Given the description of an element on the screen output the (x, y) to click on. 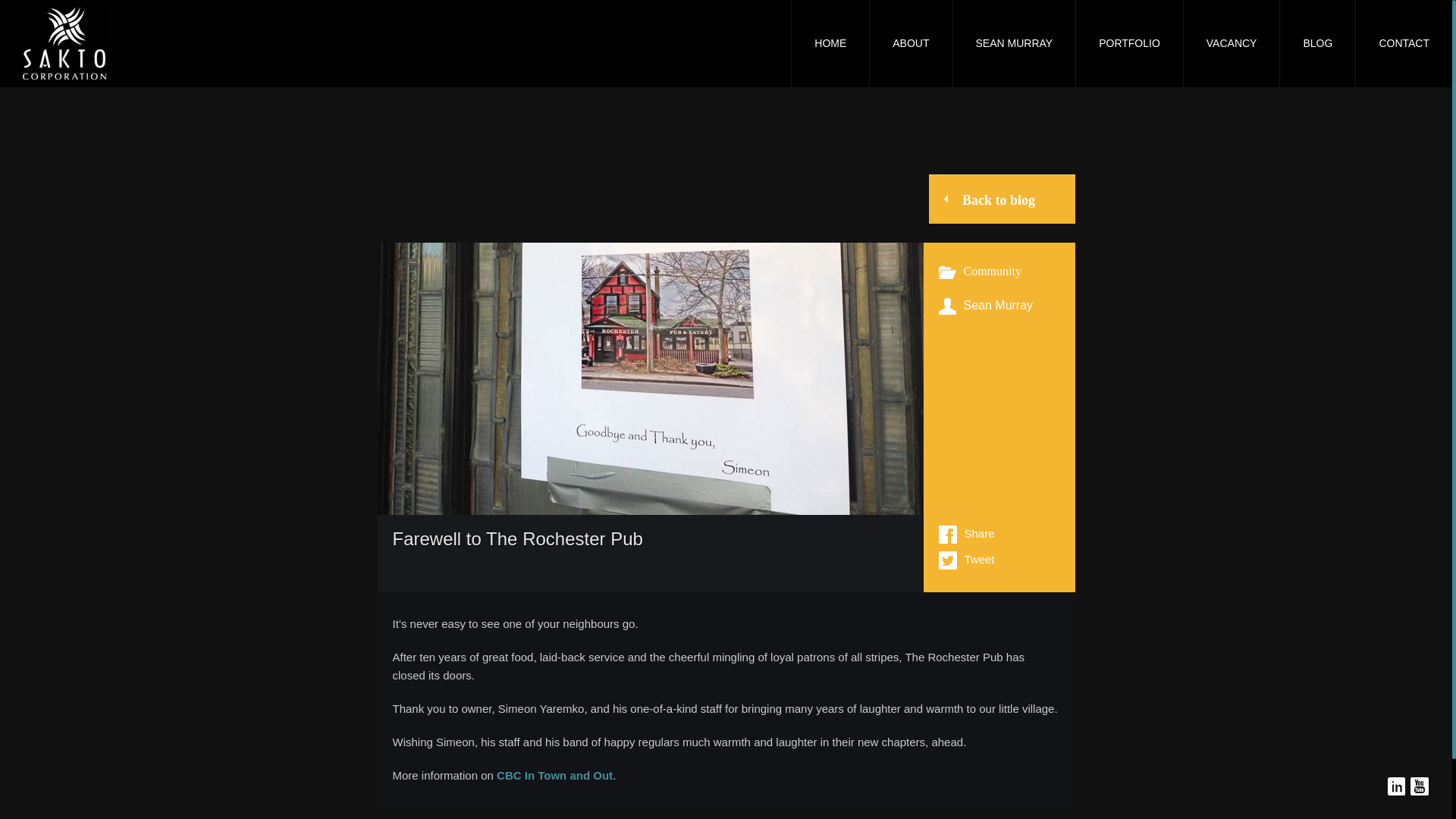
PORTFOLIO (1128, 43)
VACANCY (1230, 43)
CBC In Town and Out (554, 775)
Tweet (966, 560)
BLOG (1317, 43)
SEAN MURRAY (1013, 43)
HOME (829, 43)
Back to blog (1001, 198)
Share (966, 534)
ABOUT (910, 43)
